Given the description of an element on the screen output the (x, y) to click on. 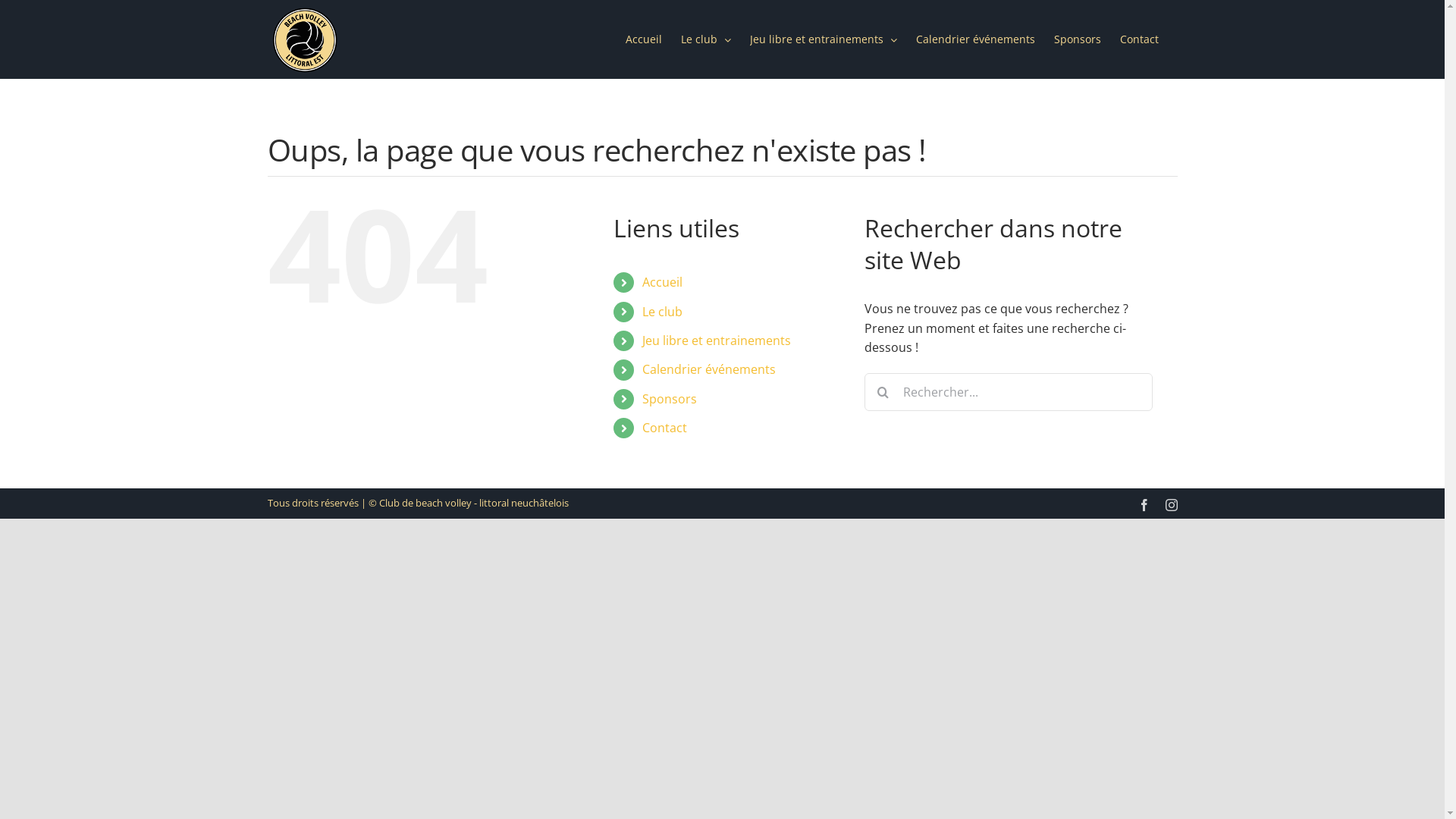
Accueil Element type: text (662, 281)
Le club Element type: text (705, 39)
Jeu libre et entrainements Element type: text (822, 39)
Sponsors Element type: text (669, 398)
Le club Element type: text (662, 311)
Contact Element type: text (664, 427)
Jeu libre et entrainements Element type: text (716, 340)
Accueil Element type: text (642, 39)
Contact Element type: text (1138, 39)
Sponsors Element type: text (1077, 39)
Facebook Element type: text (1143, 504)
Instagram Element type: text (1170, 504)
